Given the description of an element on the screen output the (x, y) to click on. 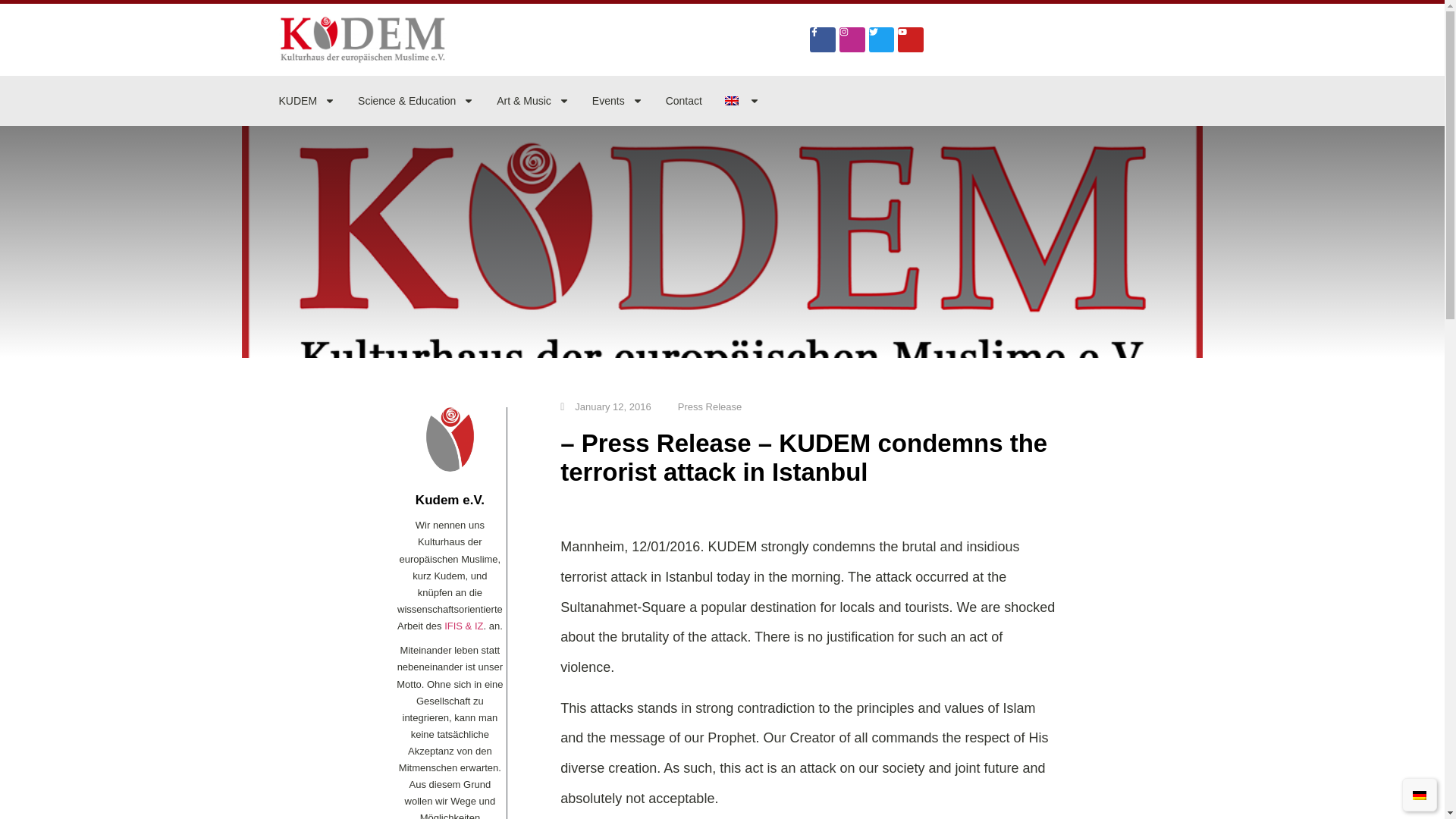
KUDEM (307, 100)
Contact (683, 100)
Events (617, 100)
